Given the description of an element on the screen output the (x, y) to click on. 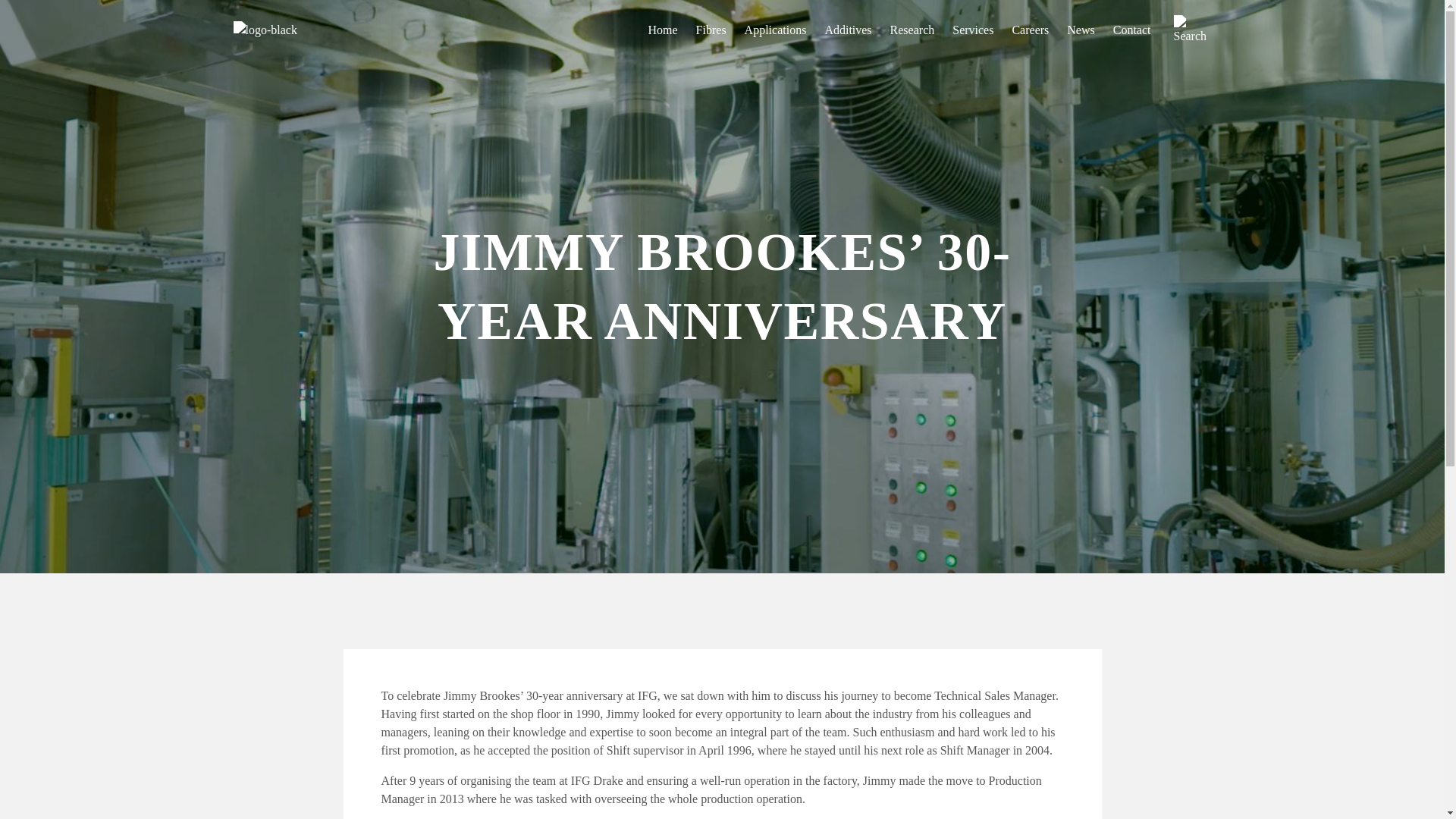
Contact (1132, 30)
Services (972, 30)
Careers (1029, 30)
News (1080, 30)
Additives (847, 30)
Home (662, 30)
Applications (775, 30)
Research (911, 30)
Fibres (710, 30)
